Given the description of an element on the screen output the (x, y) to click on. 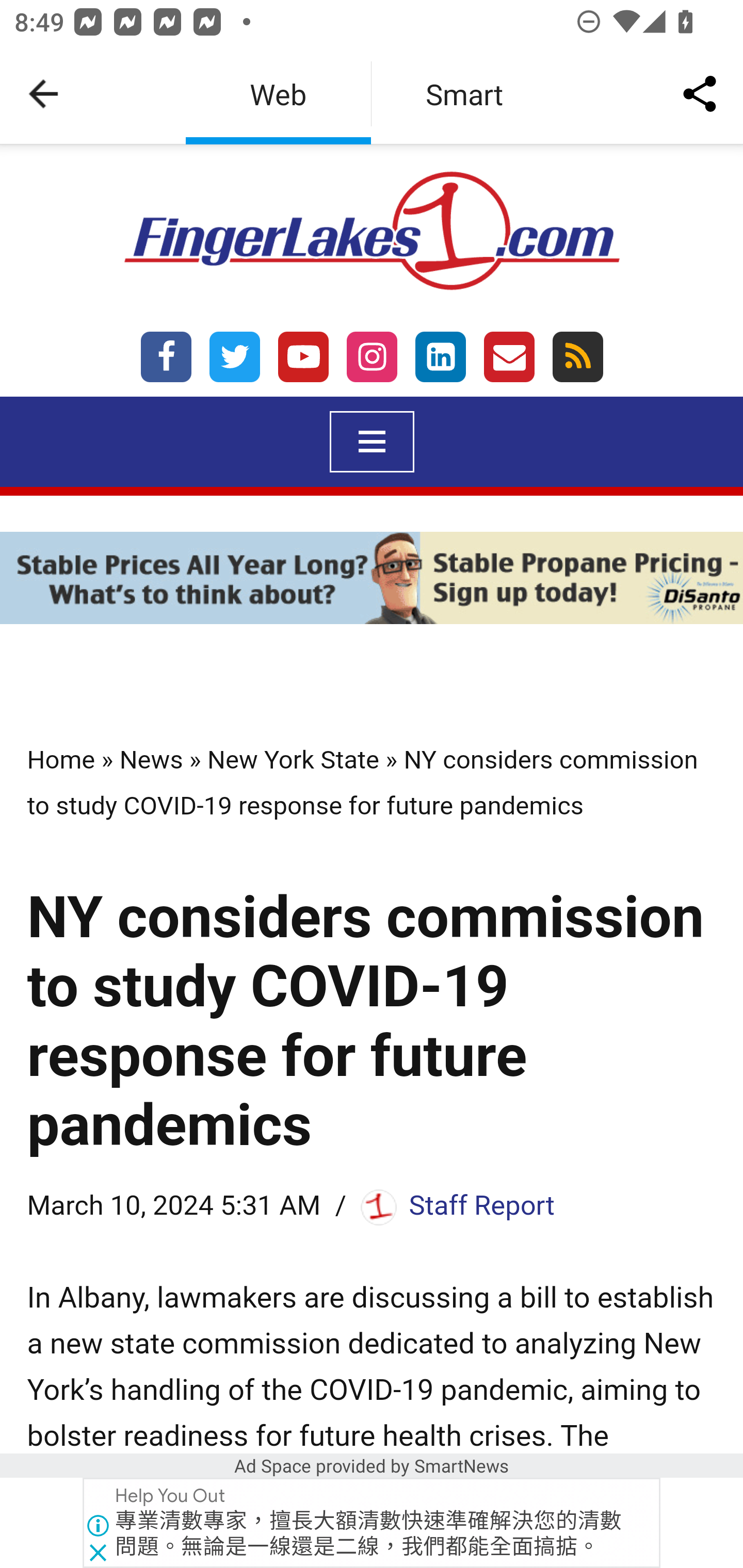
Web (277, 93)
Smart (464, 93)
Facebook (167, 356)
Twitter (234, 356)
Youtube (303, 356)
Instagram (372, 356)
LinkIn (440, 356)
Email Us (508, 356)
Feed (577, 356)
Navigation Menu  (371, 441)
DiSanto Propane (Banner) (371, 580)
Home (60, 759)
News (151, 759)
New York State (292, 759)
Staff Report (481, 1204)
Help You Out (171, 1496)
